Given the description of an element on the screen output the (x, y) to click on. 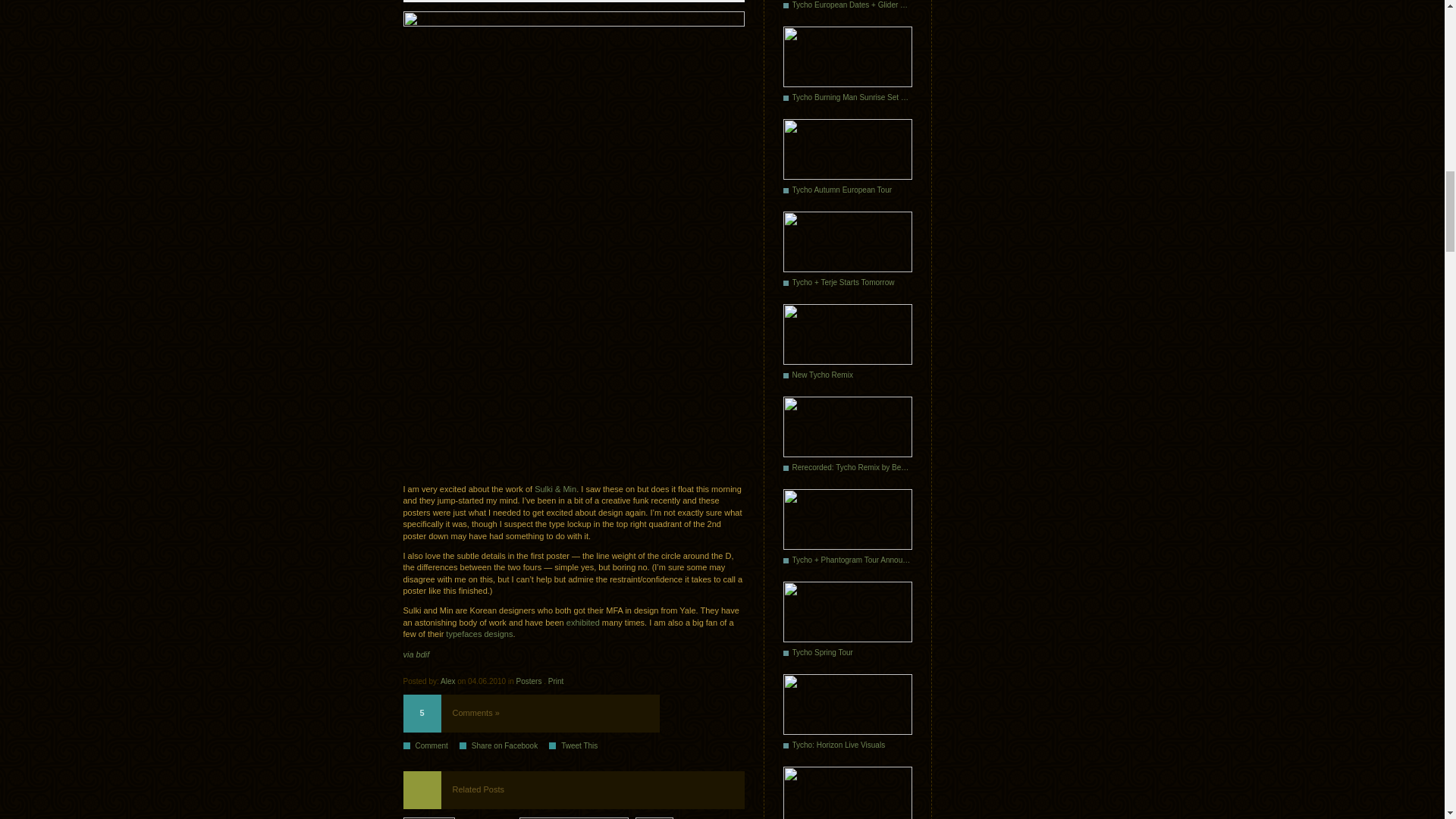
exhibited (582, 622)
typefaces designs (478, 633)
50 Amazing Gig Posters (689, 818)
Film the Blanks (572, 818)
via bdif (416, 654)
Posts by Alex (447, 681)
Posters (528, 681)
Tweet This (578, 745)
Send this post to Twitter (578, 745)
Share on Facebook (504, 745)
